Given the description of an element on the screen output the (x, y) to click on. 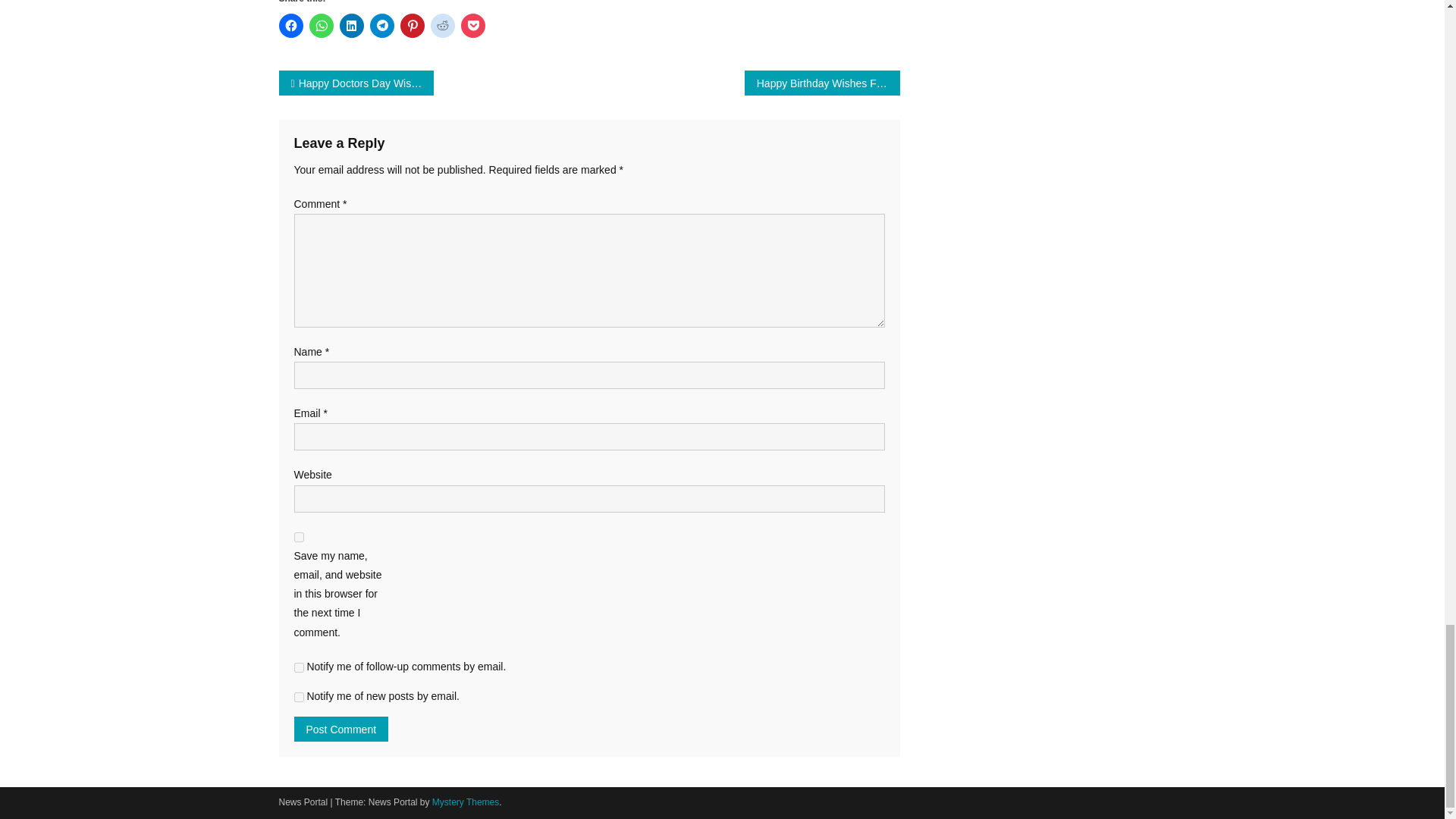
Click to share on WhatsApp (320, 25)
Post Comment (341, 729)
Post Comment (341, 729)
Click to share on Pocket (472, 25)
Click to share on Reddit (442, 25)
Click to share on Telegram (381, 25)
Happy Doctors Day Wishes Sms, Doctors Day Card Messages (356, 82)
Click to share on Facebook (290, 25)
Click to share on Pinterest (412, 25)
subscribe (299, 667)
yes (299, 537)
Happy Birthday Wishes For Brother (821, 82)
subscribe (299, 696)
Click to share on LinkedIn (351, 25)
